Given the description of an element on the screen output the (x, y) to click on. 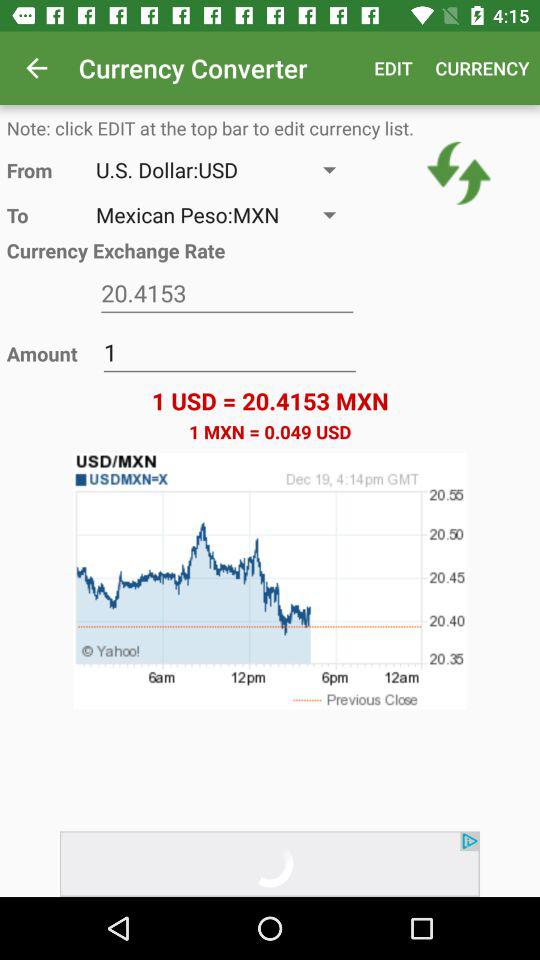
select the item next to the note click edit item (458, 173)
